Given the description of an element on the screen output the (x, y) to click on. 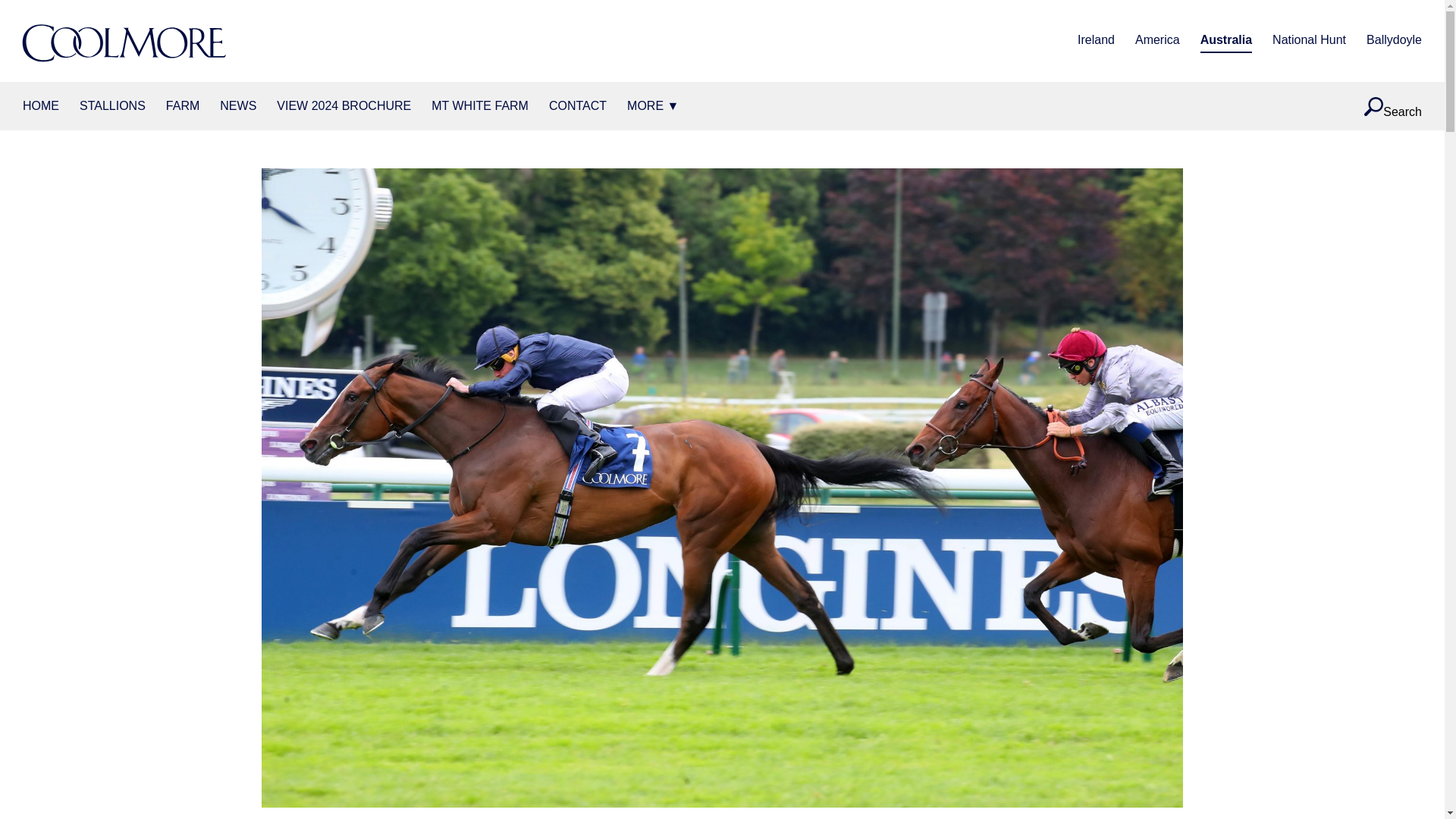
America (1157, 40)
STALLIONS (112, 106)
MT WHITE FARM (479, 106)
HOME (41, 106)
Mt White Farm (479, 106)
CONTACT (577, 106)
Ireland (1096, 40)
Australia (1225, 40)
NEWS (237, 106)
National Hunt (1308, 40)
